Given the description of an element on the screen output the (x, y) to click on. 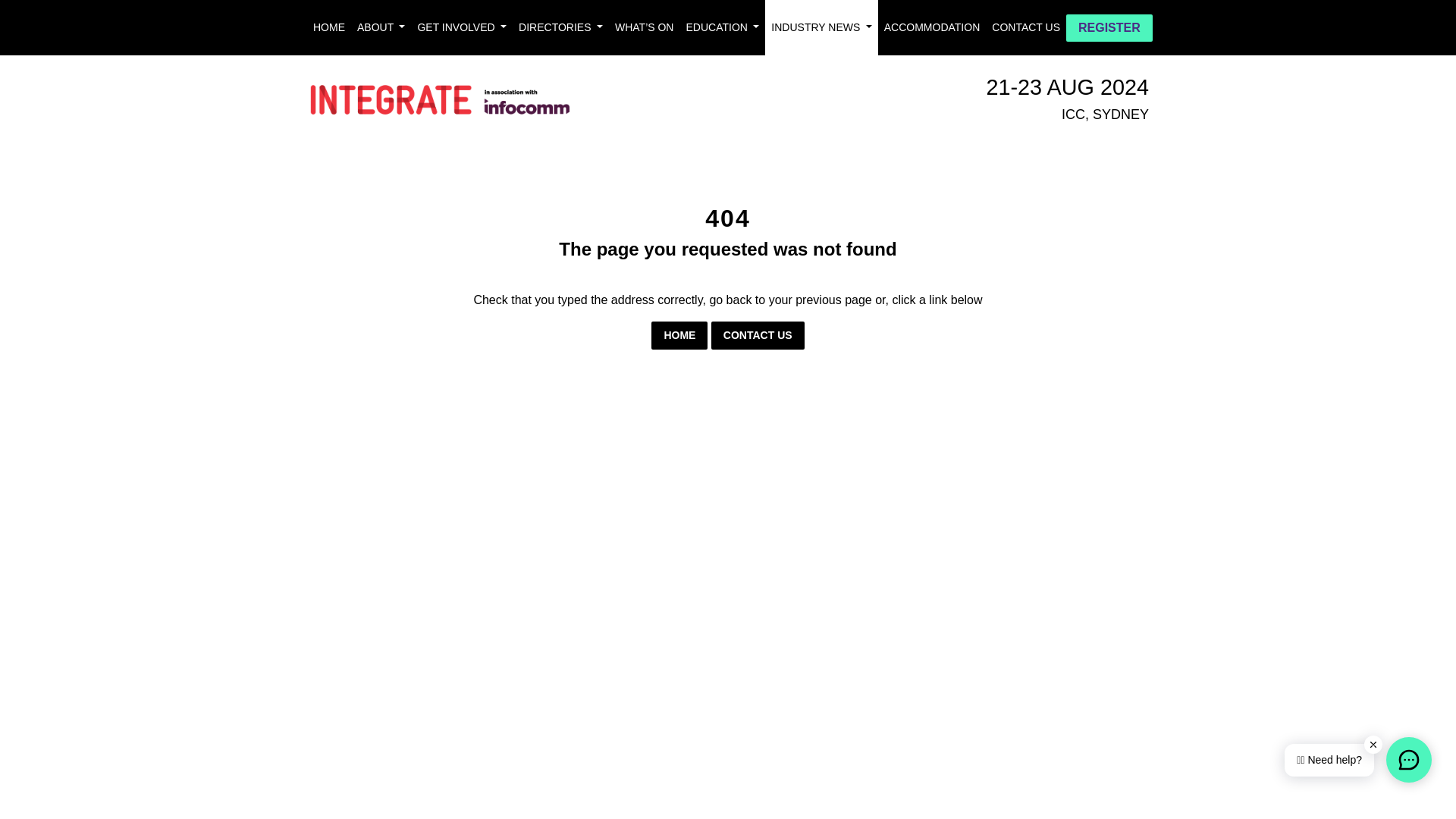
HOME (678, 335)
ACCOMMODATION (932, 27)
Directories (560, 27)
CONTACT US (758, 335)
About (380, 27)
GET INVOLVED (461, 27)
DIRECTORIES (560, 27)
ABOUT (380, 27)
GET INVOLVED (461, 27)
INDUSTRY NEWS (821, 27)
